Given the description of an element on the screen output the (x, y) to click on. 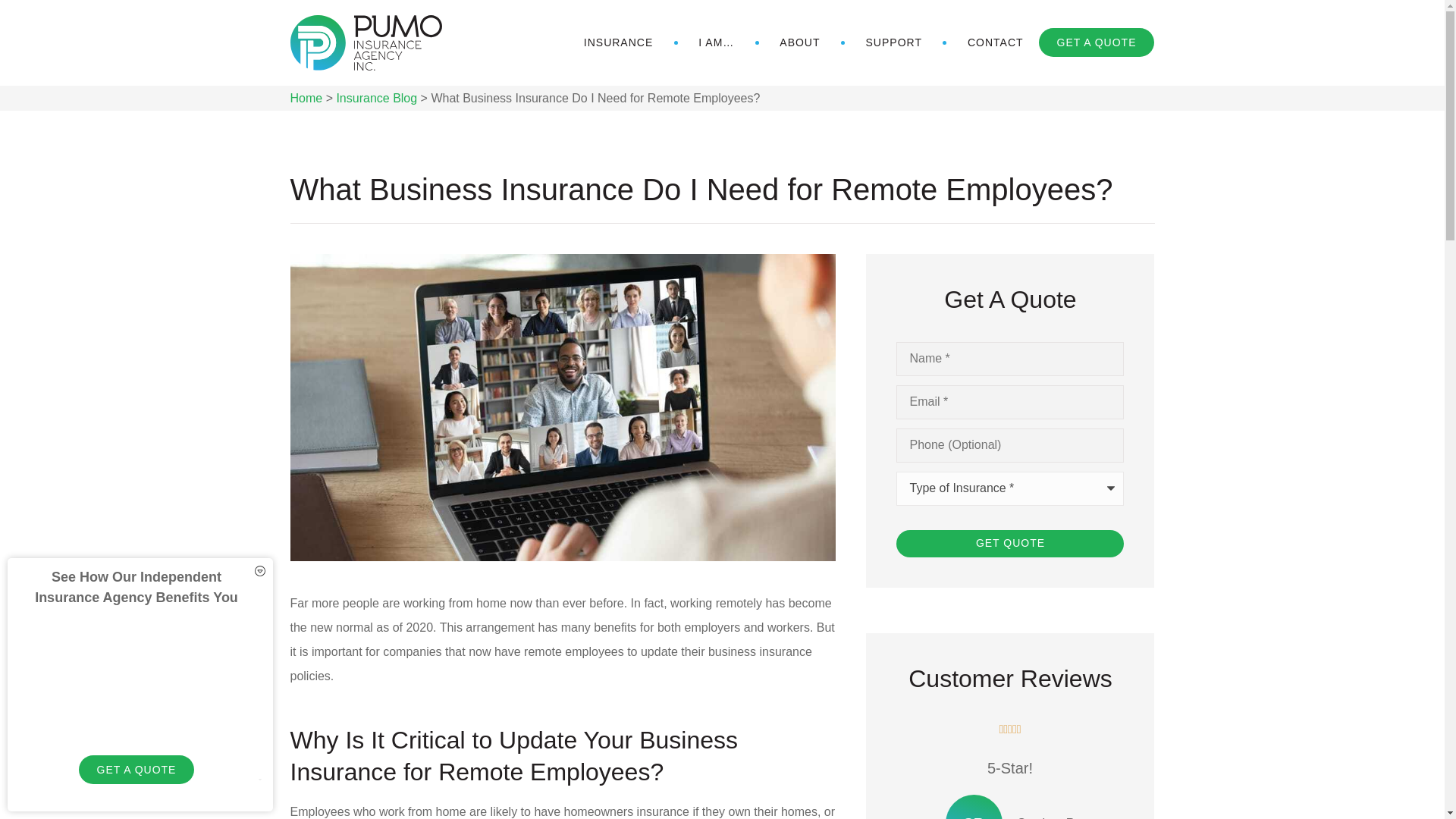
INSURANCE (618, 42)
Get Quote (1010, 543)
Pumo-Insurance-Agency-horiz (365, 42)
